Given the description of an element on the screen output the (x, y) to click on. 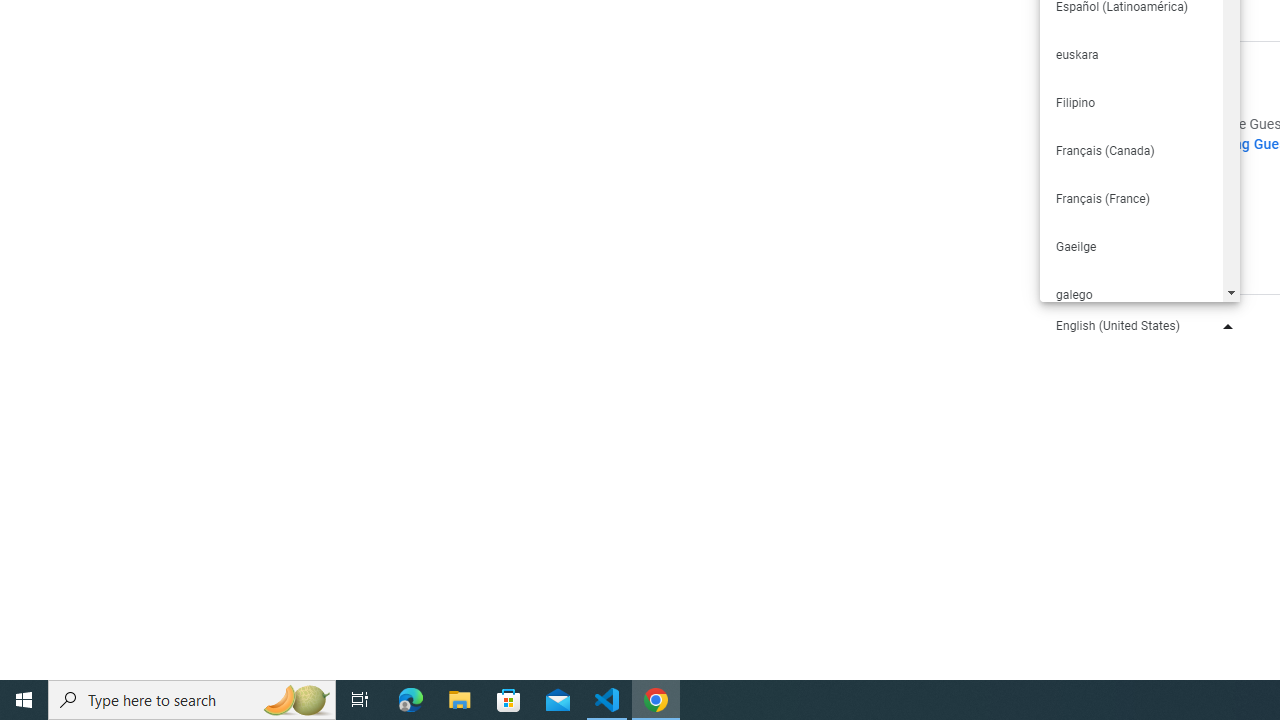
Create account (1146, 213)
Forgot email? (1140, 59)
galego (1130, 294)
euskara (1130, 54)
English (United States) (1139, 324)
Gaeilge (1130, 246)
Filipino (1130, 102)
